Given the description of an element on the screen output the (x, y) to click on. 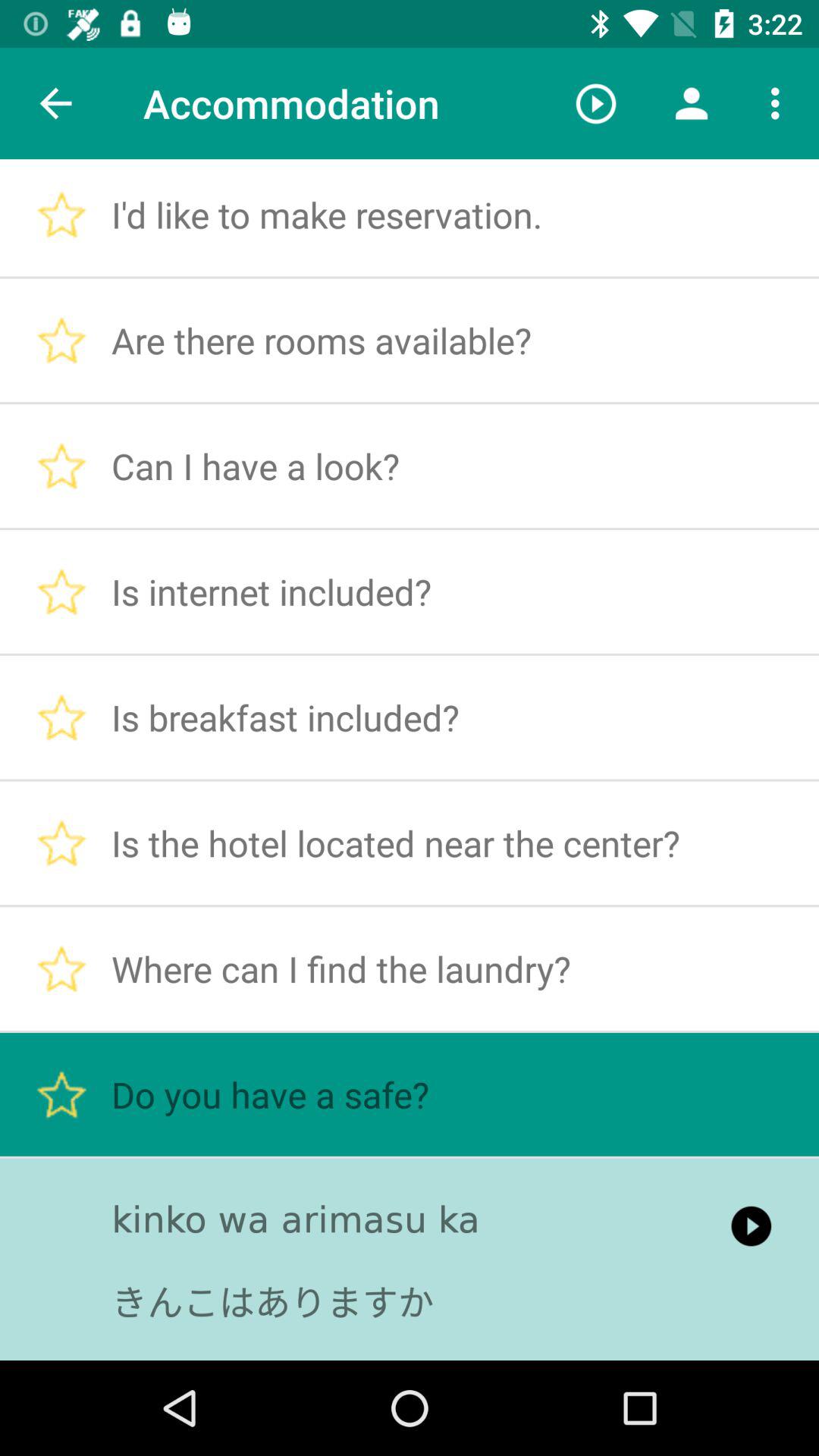
turn on the item next to accommodation icon (595, 103)
